Given the description of an element on the screen output the (x, y) to click on. 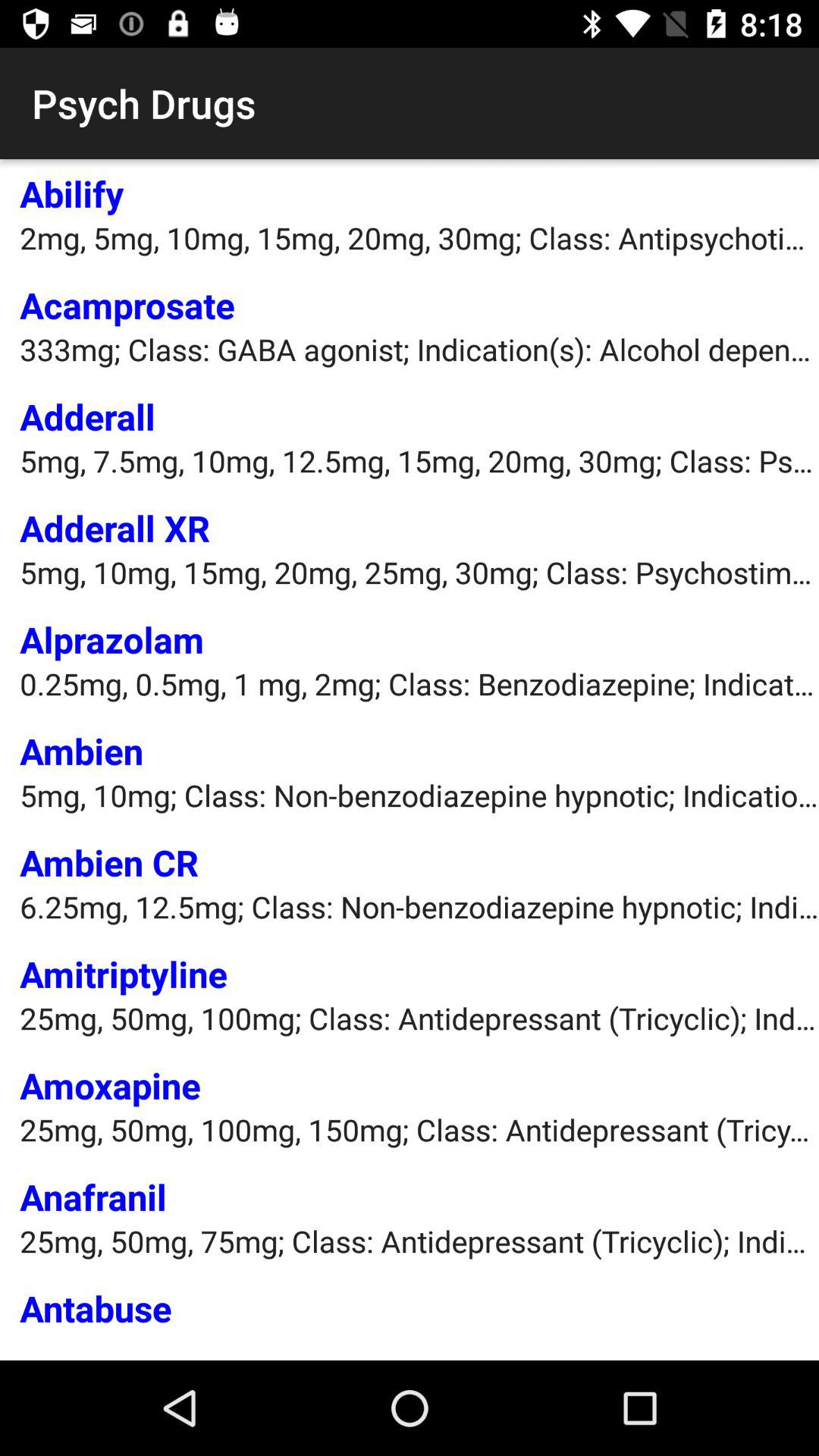
flip until acamprosate (126, 304)
